Given the description of an element on the screen output the (x, y) to click on. 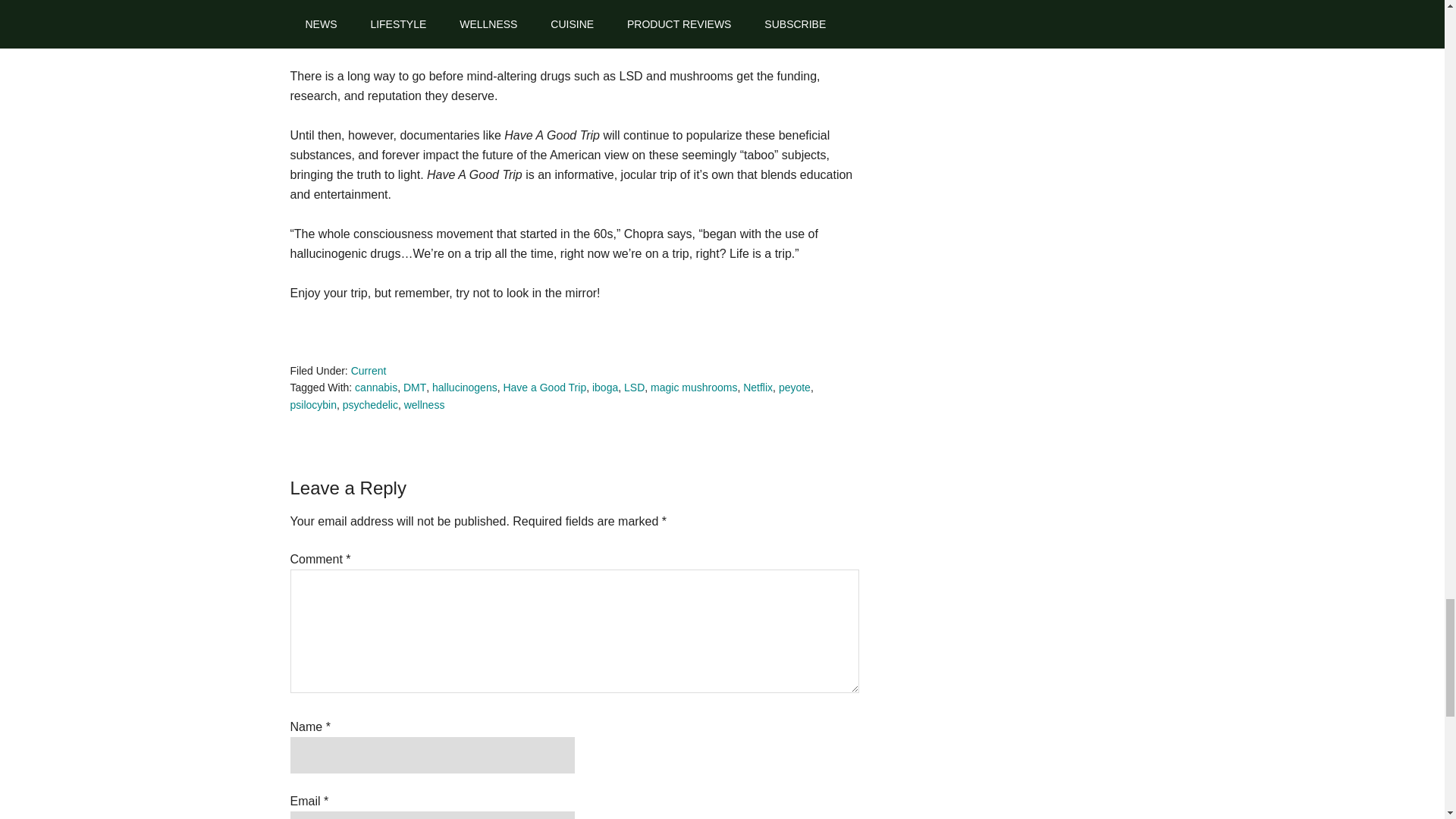
psilocybin (312, 404)
Current (368, 370)
iboga (604, 387)
cannabis (376, 387)
magic mushrooms (693, 387)
Netflix (757, 387)
peyote (794, 387)
Have a Good Trip (544, 387)
LSD (634, 387)
DMT (414, 387)
